Given the description of an element on the screen output the (x, y) to click on. 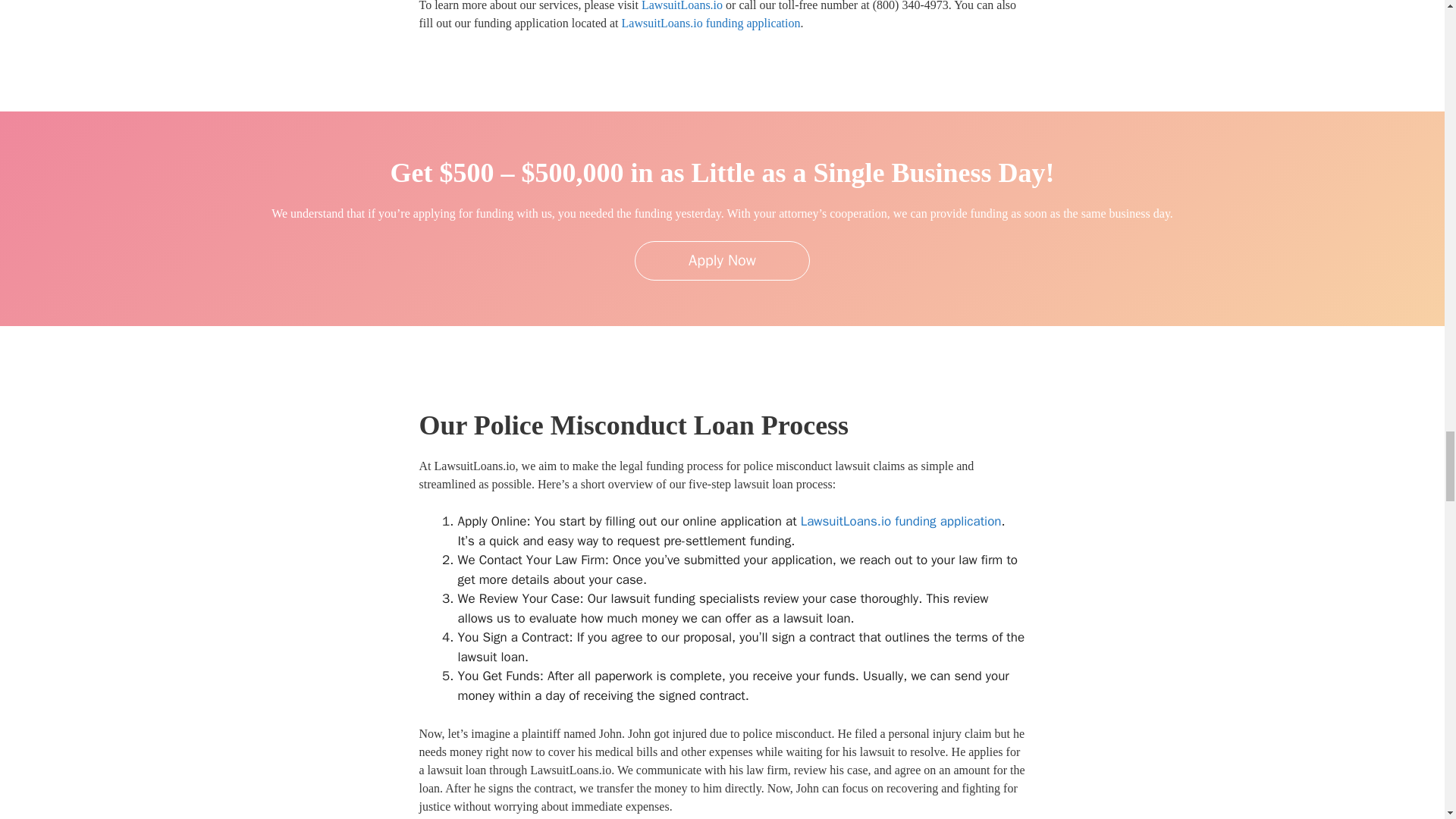
LawsuitLoans.io funding application (900, 521)
LawsuitLoans.io (682, 5)
LawsuitLoans.io funding application (710, 22)
Apply Now (721, 260)
